Given the description of an element on the screen output the (x, y) to click on. 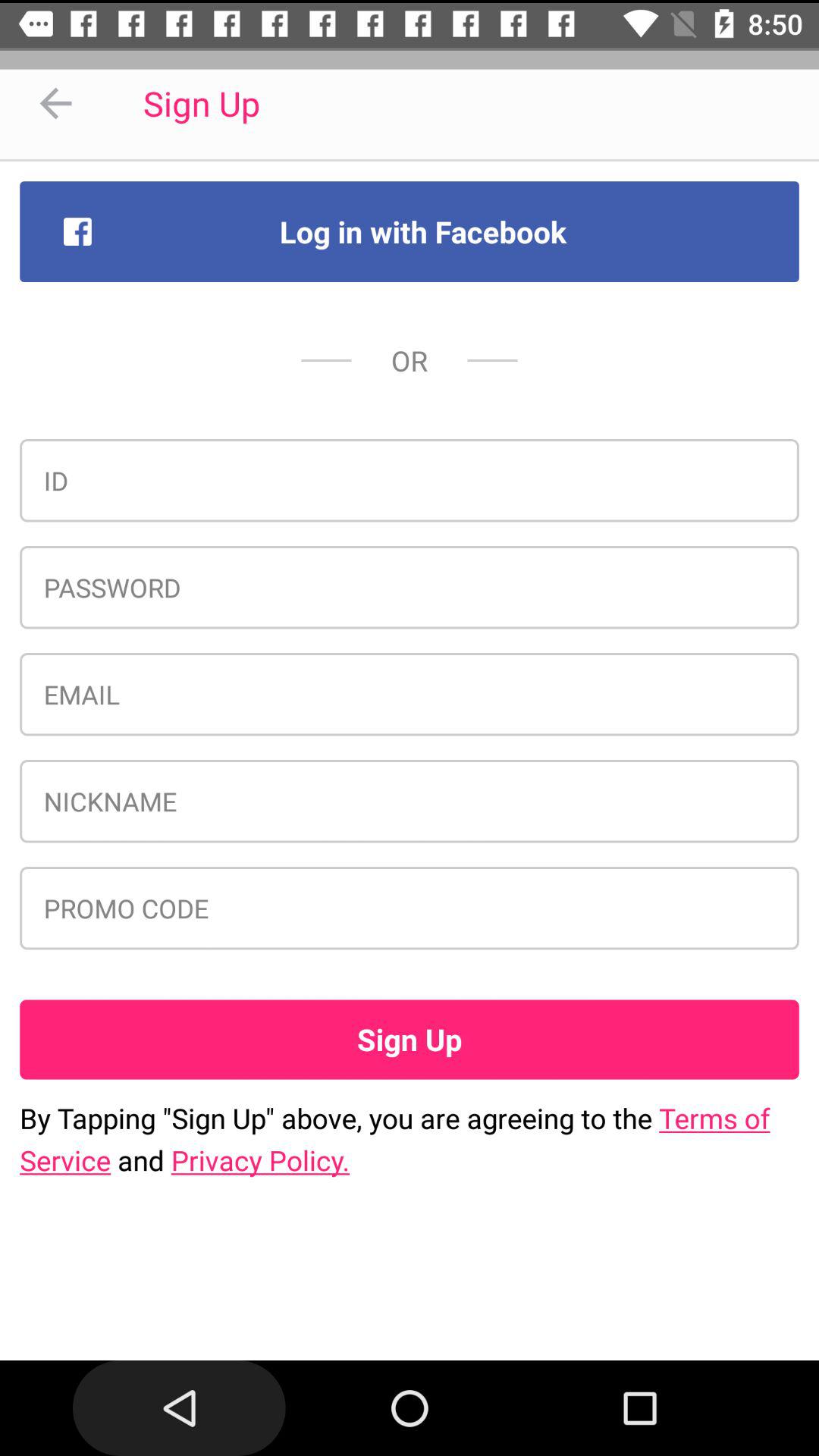
turn on the item next to the sign up (55, 103)
